Given the description of an element on the screen output the (x, y) to click on. 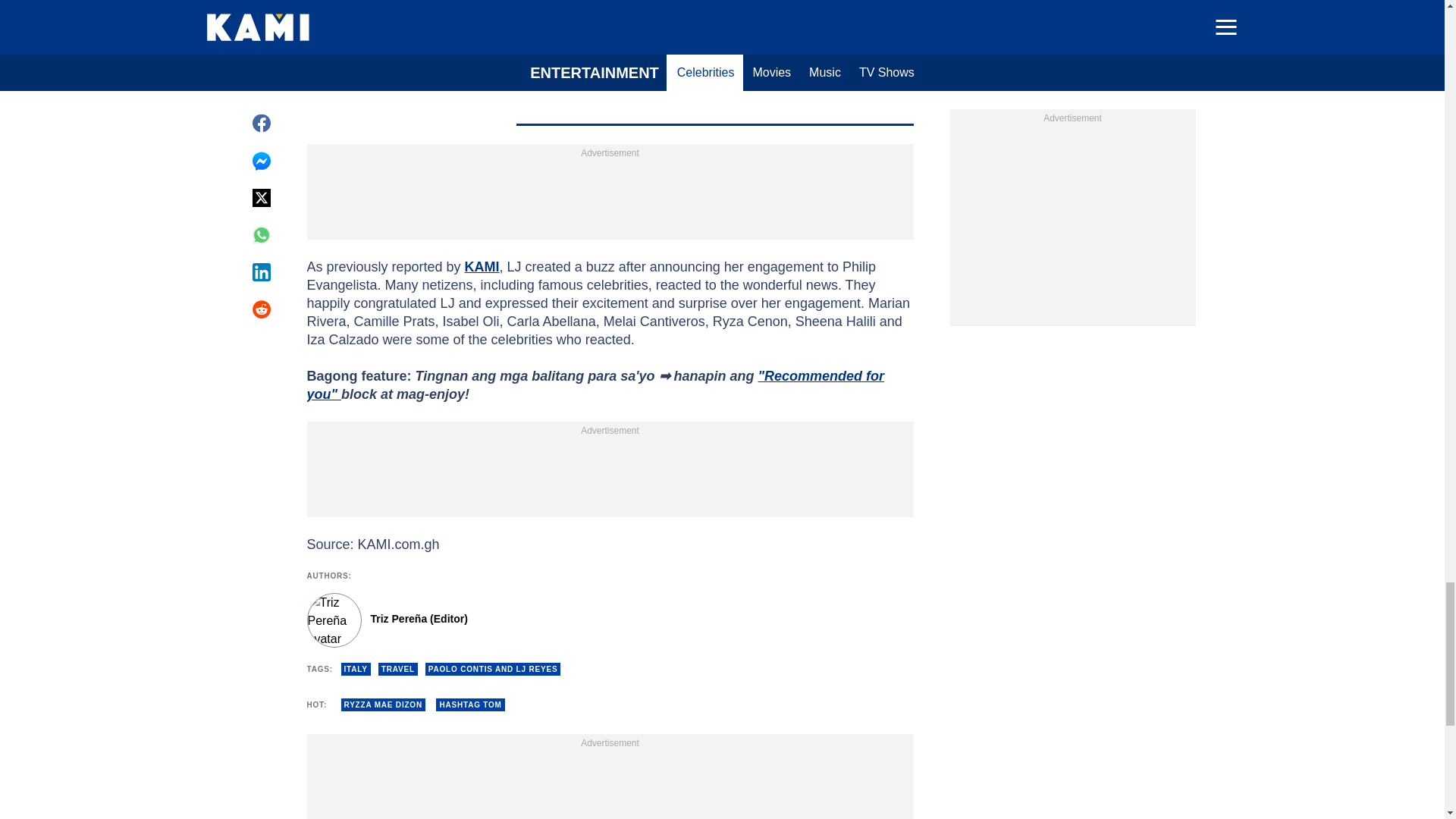
Author page (533, 619)
